Given the description of an element on the screen output the (x, y) to click on. 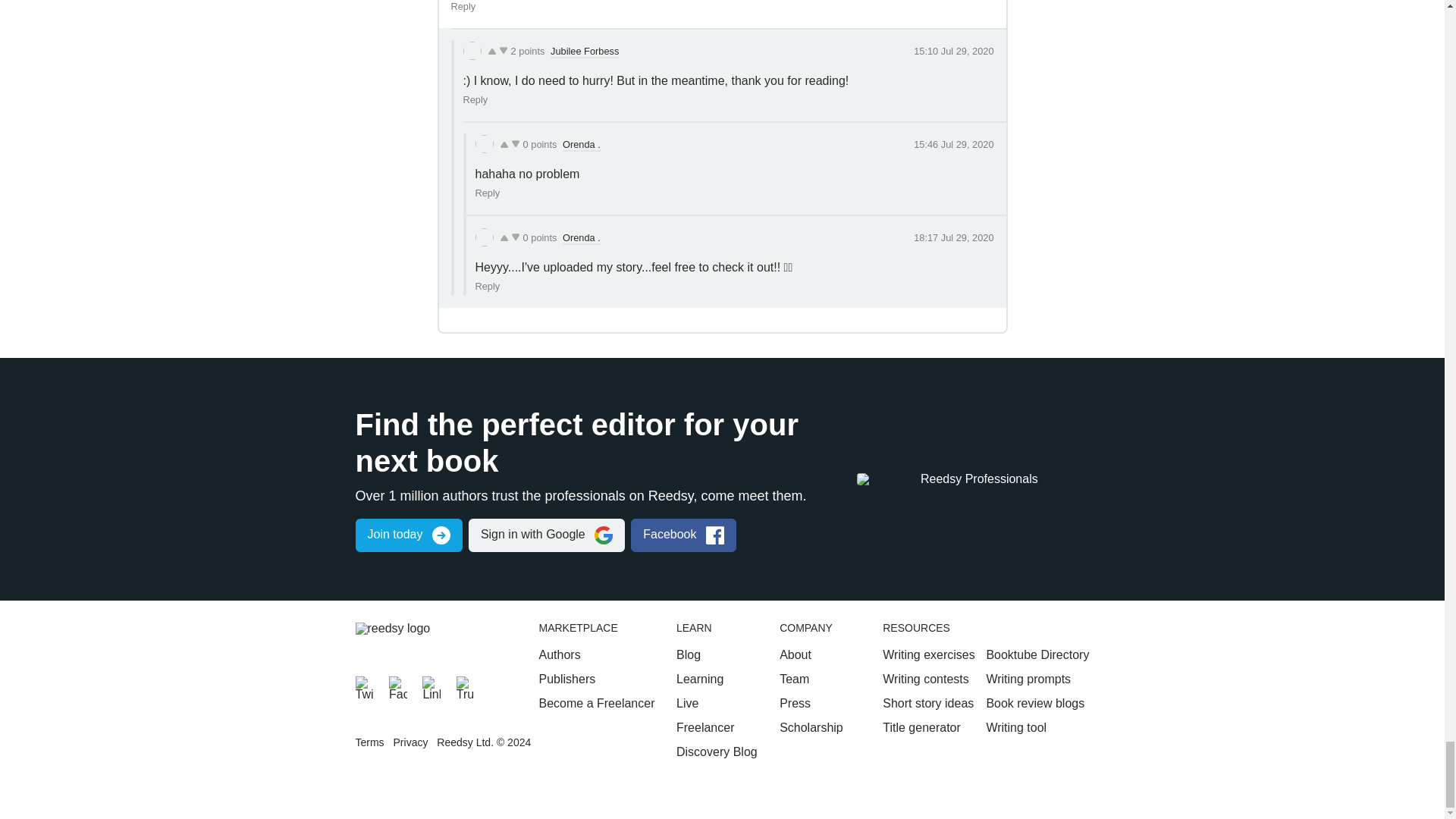
Twitter (363, 685)
Trustpilot (465, 685)
LinkedIn (431, 685)
Facebook (397, 685)
Sign up (408, 535)
Sign in with Google (546, 535)
Sign in with Facebook (683, 535)
